Given the description of an element on the screen output the (x, y) to click on. 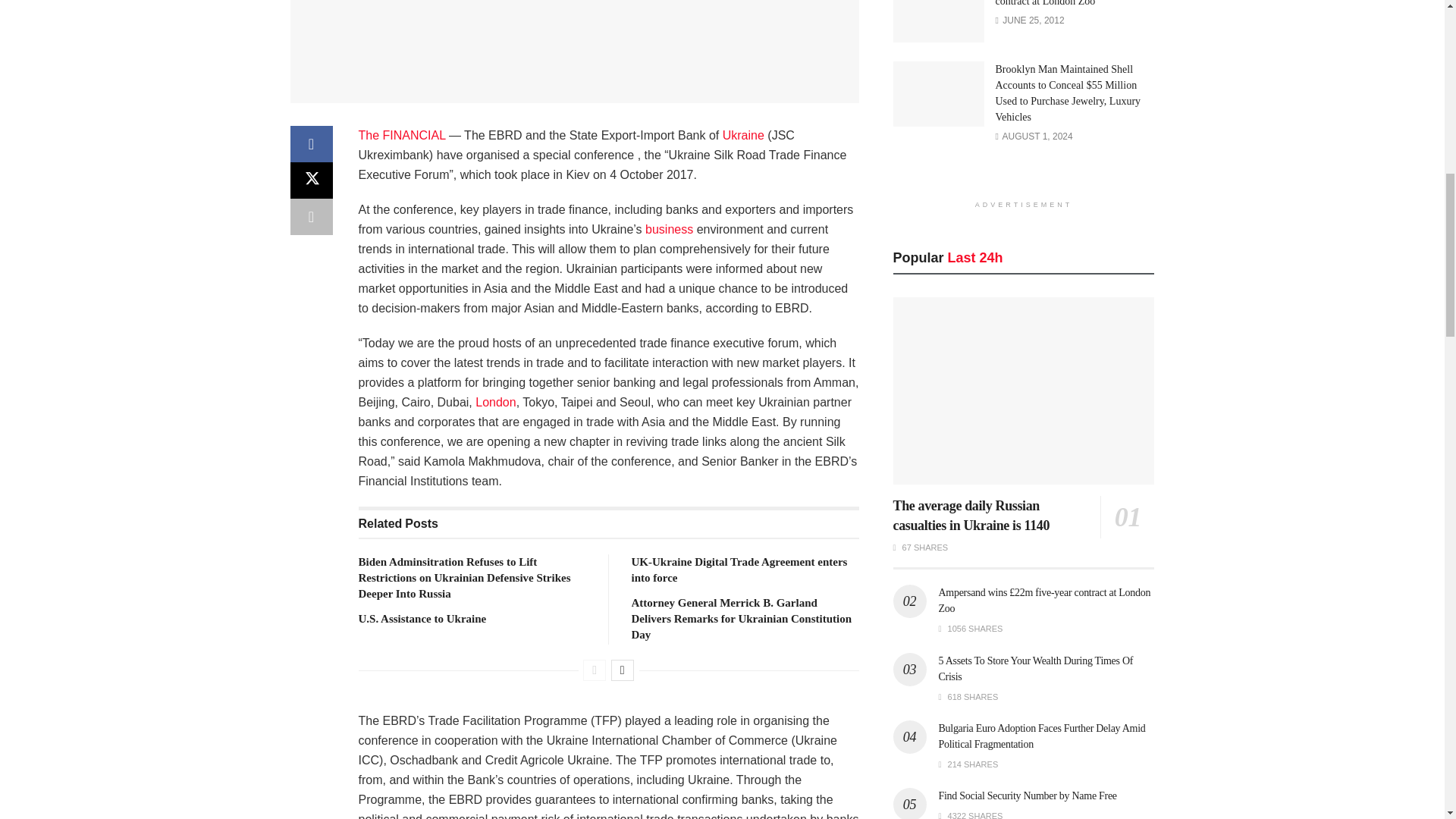
Ukraine (743, 134)
British Reporter (495, 401)
The FINANCIAL (401, 134)
Previous (594, 670)
Next (622, 670)
Business (669, 228)
